Given the description of an element on the screen output the (x, y) to click on. 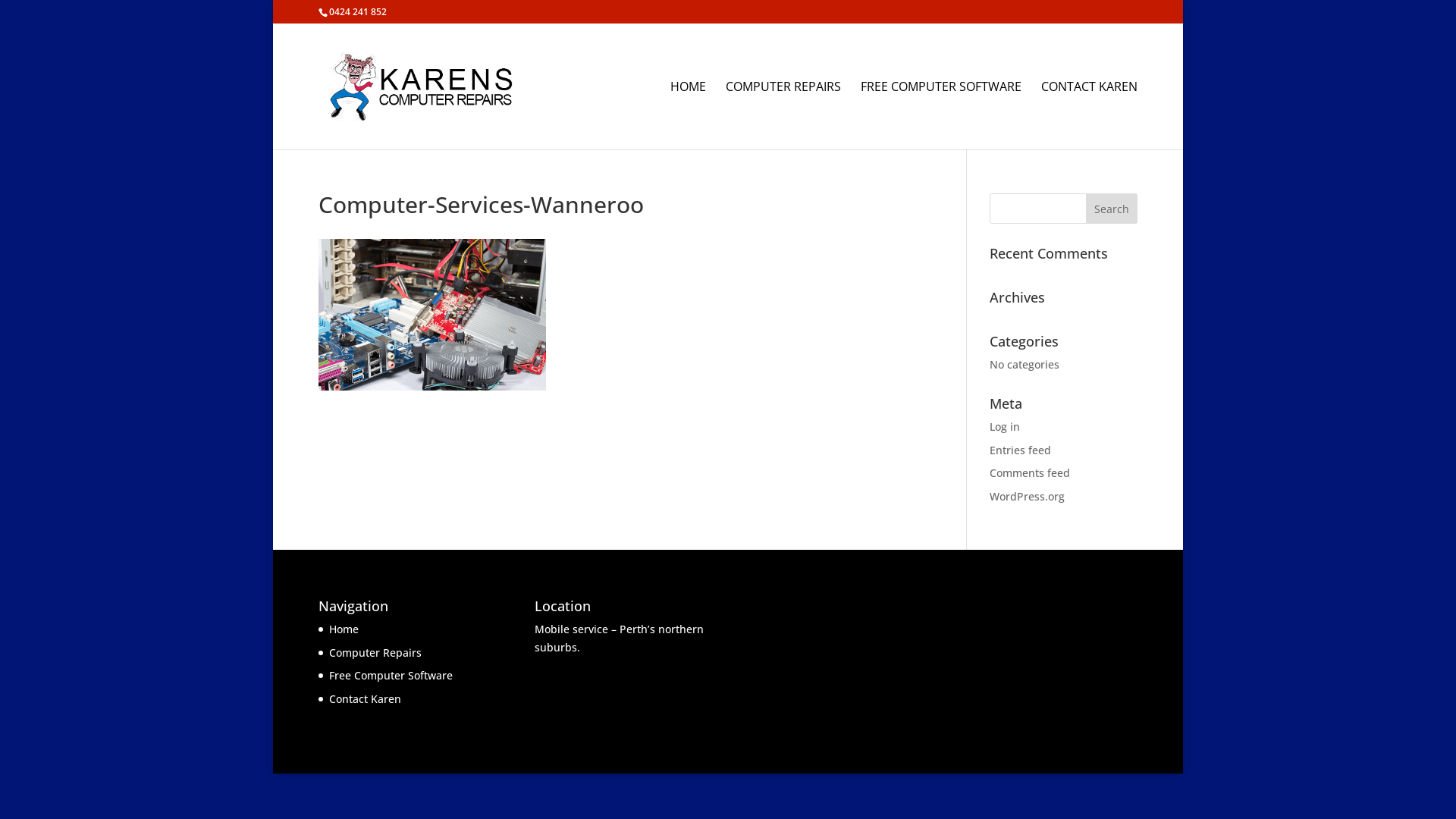
CONTACT KAREN Element type: text (1089, 115)
COMPUTER REPAIRS Element type: text (782, 115)
Home Element type: text (343, 628)
FREE COMPUTER SOFTWARE Element type: text (940, 115)
Computer Repairs Element type: text (375, 652)
Free Computer Software Element type: text (390, 675)
Search Element type: text (1111, 208)
HOME Element type: text (688, 115)
Comments feed Element type: text (1029, 472)
Contact Karen Element type: text (365, 698)
WordPress.org Element type: text (1026, 496)
Log in Element type: text (1004, 426)
Entries feed Element type: text (1020, 449)
